Given the description of an element on the screen output the (x, y) to click on. 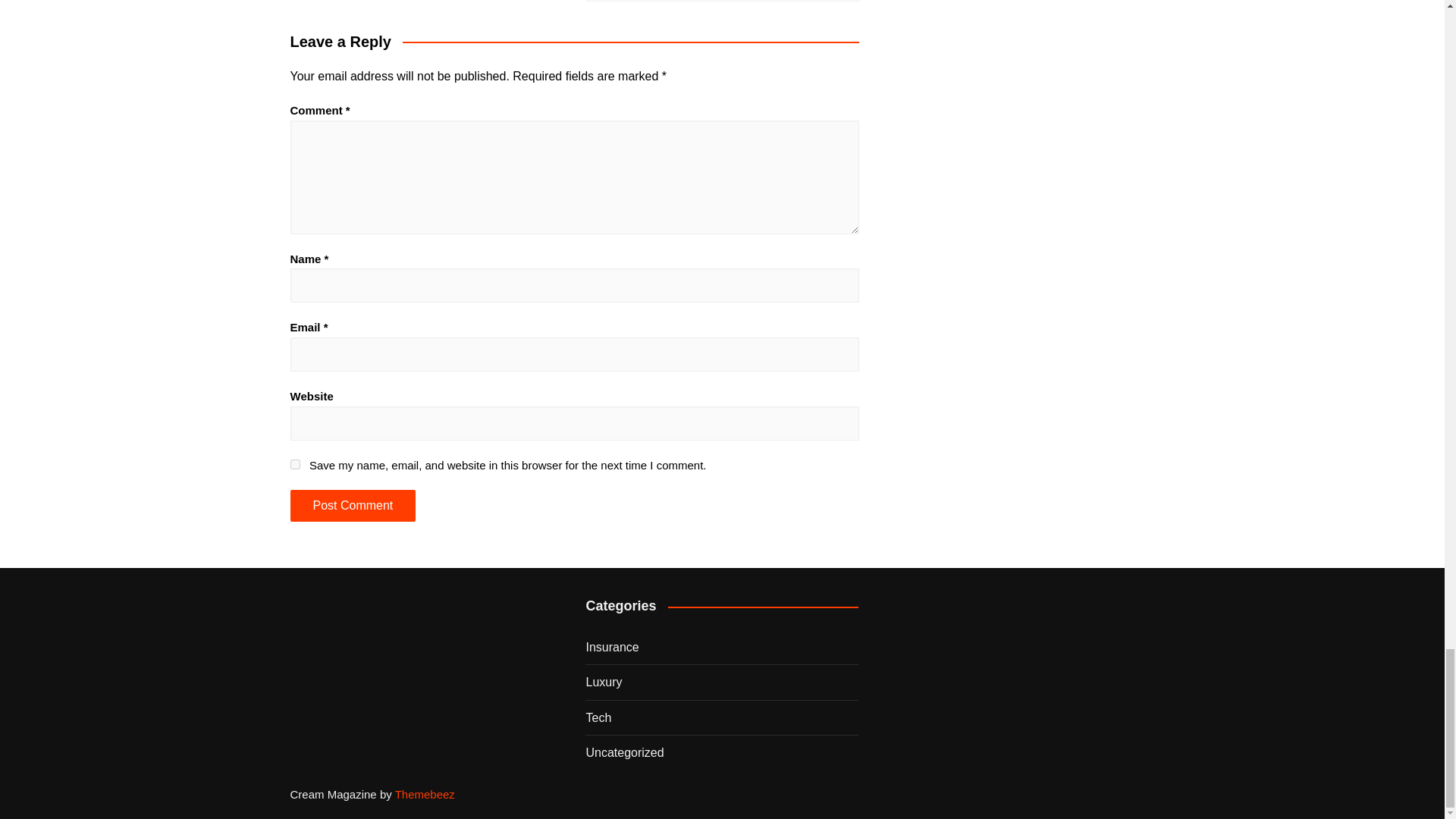
yes (294, 463)
Post Comment (351, 505)
